Given the description of an element on the screen output the (x, y) to click on. 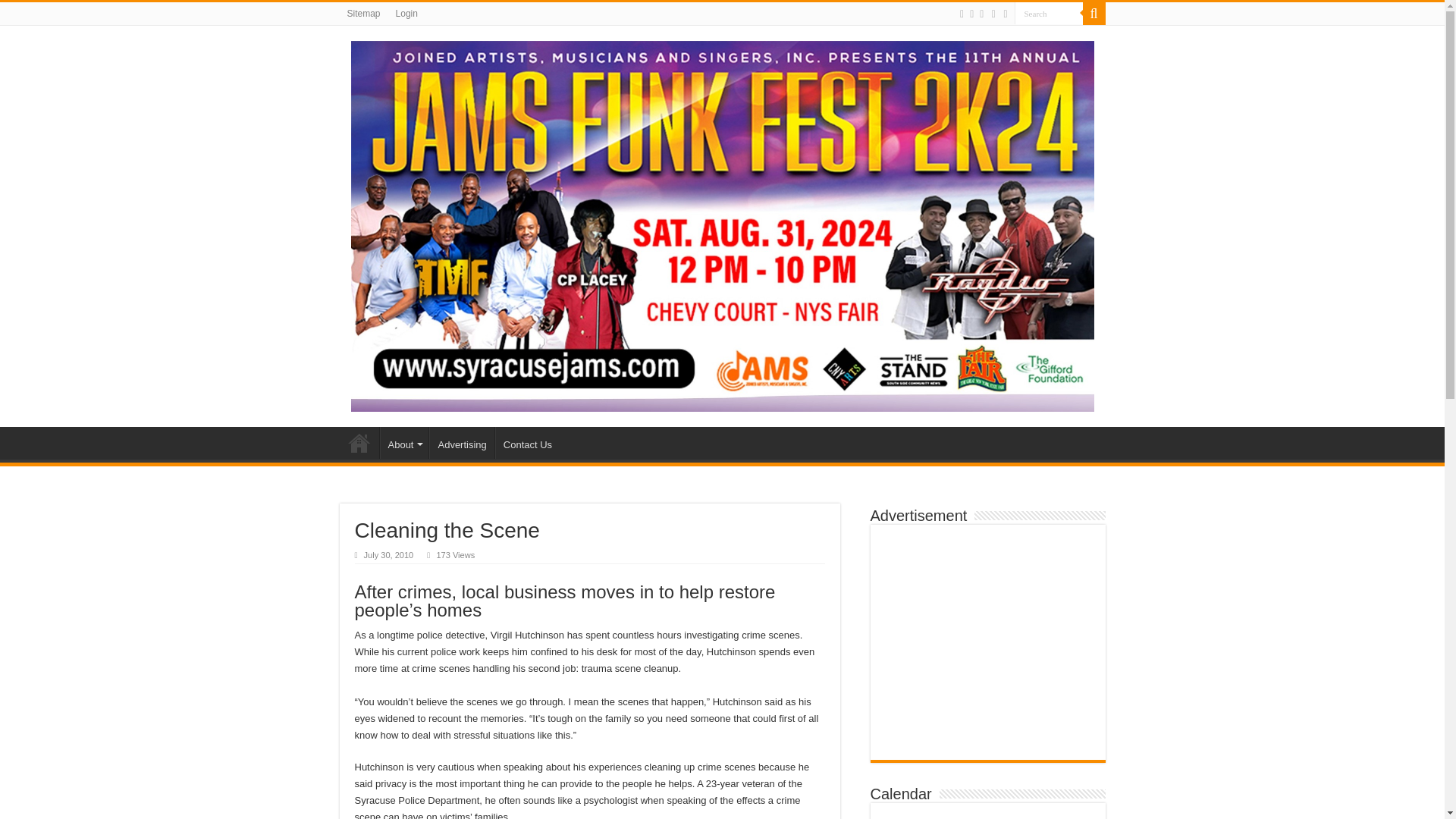
Search (1094, 13)
Advertising (461, 442)
Contact Us (527, 442)
Search (1048, 13)
Sitemap (363, 13)
Search (1048, 13)
Home (358, 442)
Login (406, 13)
Search (1048, 13)
About (403, 442)
